Given the description of an element on the screen output the (x, y) to click on. 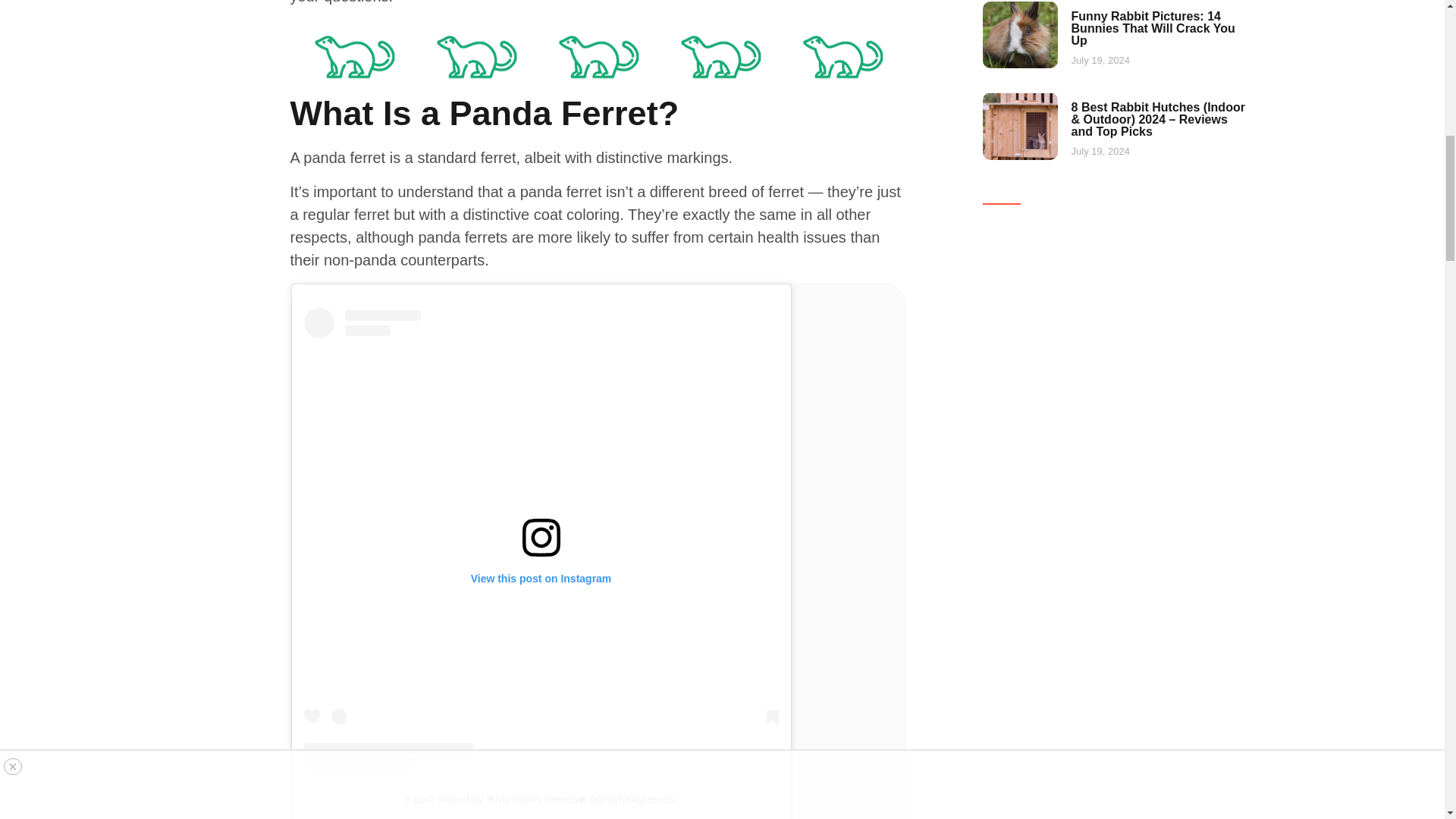
Funny Rabbit Pictures: 14 Bunnies That Will Crack You Up (1152, 27)
